Given the description of an element on the screen output the (x, y) to click on. 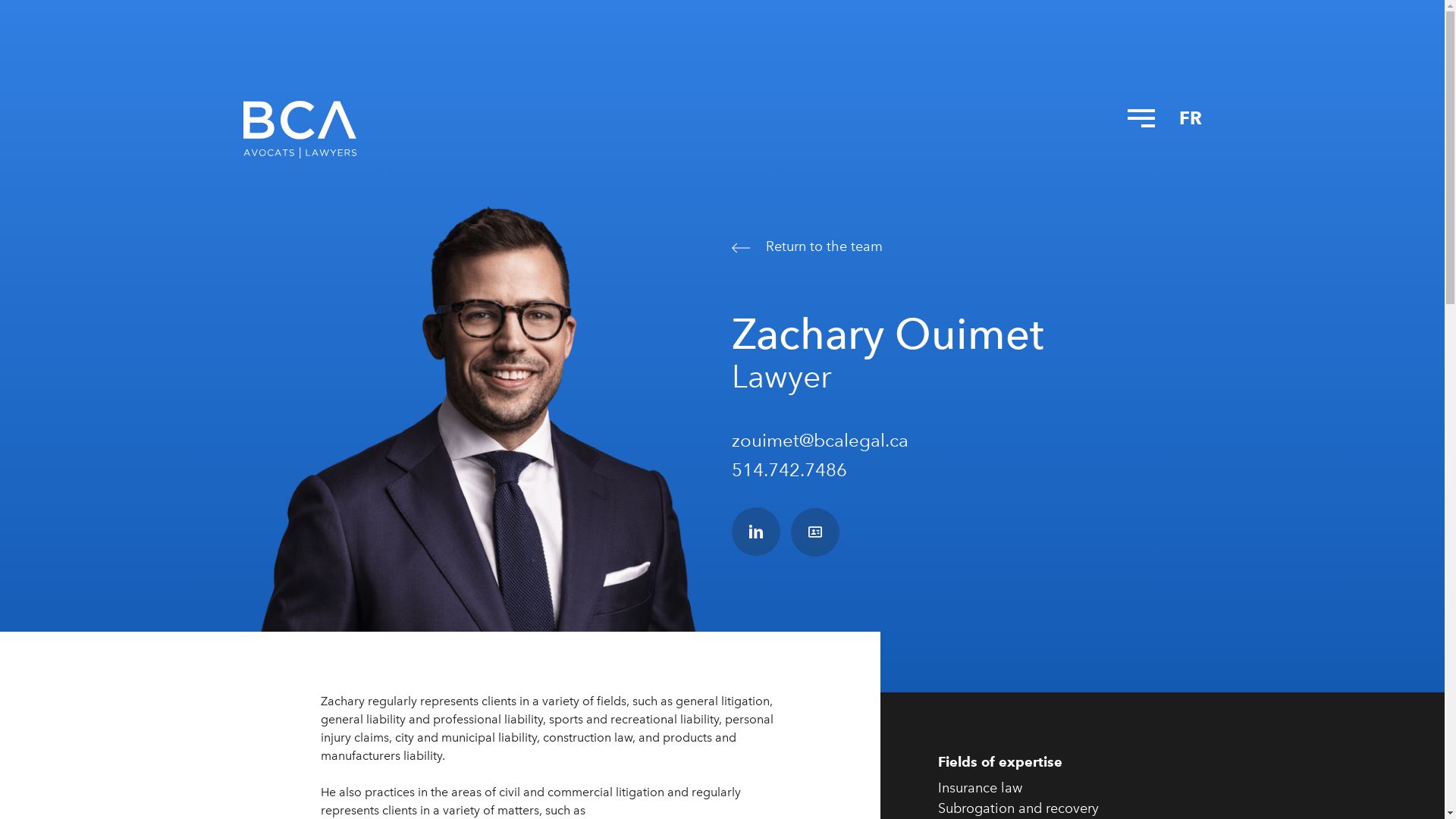
514.742.7486 Element type: text (788, 469)
FR Element type: text (1189, 117)
zouimet@bcalegal.ca Element type: text (819, 440)
Return to the team Element type: text (967, 246)
